Given the description of an element on the screen output the (x, y) to click on. 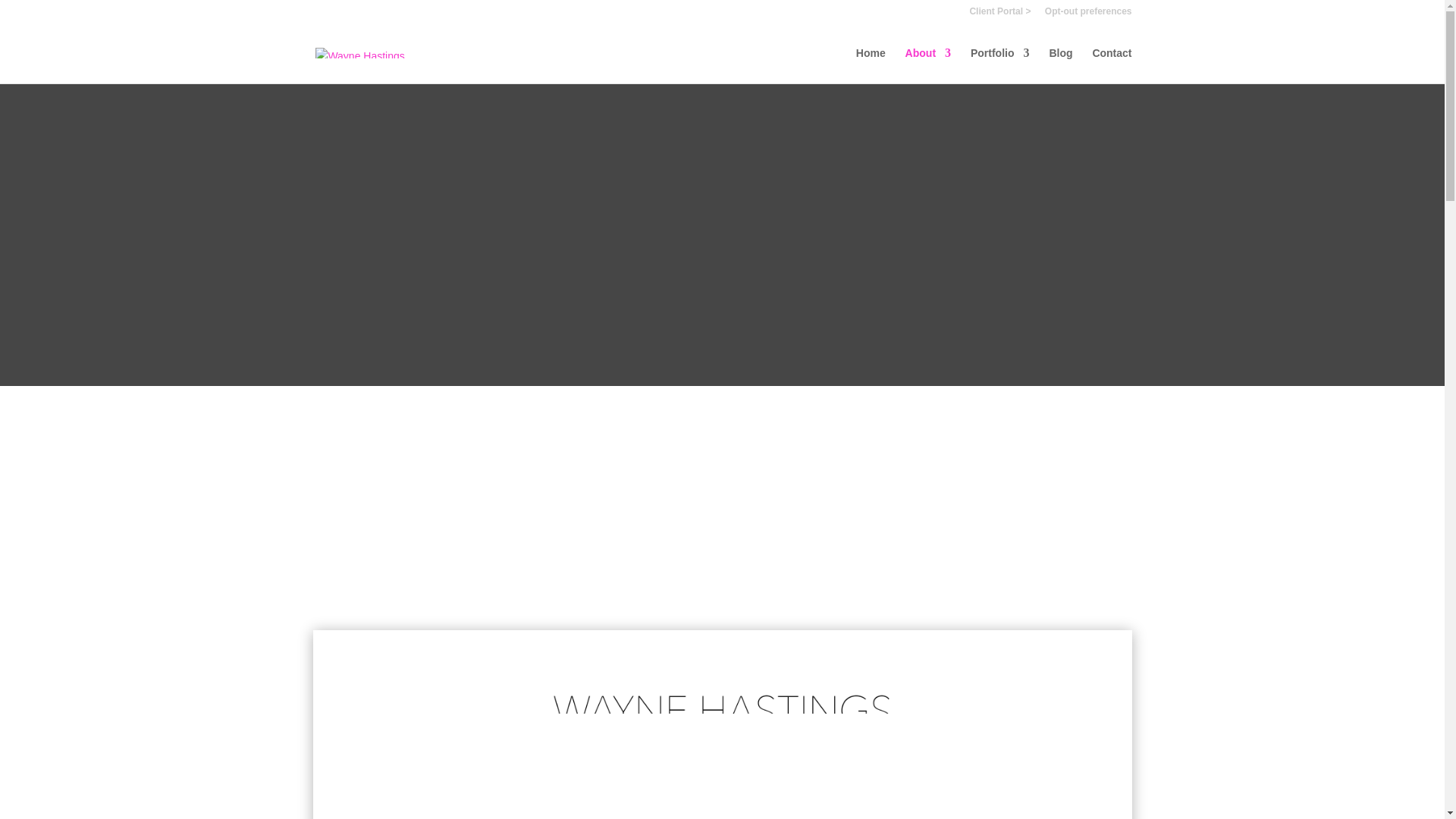
Contact (1111, 65)
Opt-out preferences (1088, 14)
About (927, 65)
Portfolio (1000, 65)
